Given the description of an element on the screen output the (x, y) to click on. 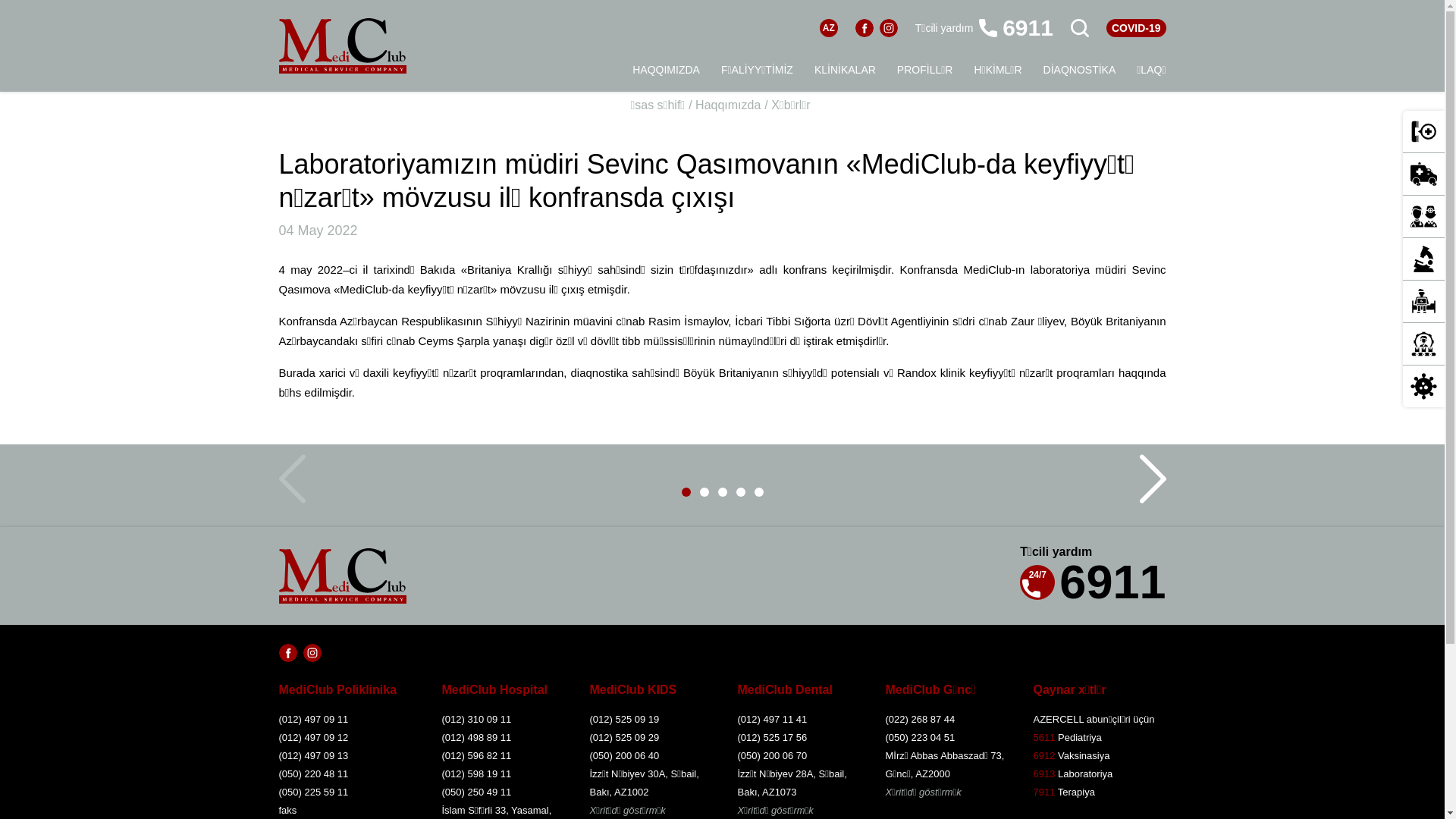
(012) 525 09 19 Element type: text (650, 719)
5 Element type: text (757, 491)
(012) 497 09 12 Element type: text (347, 737)
6913 Element type: text (1043, 773)
COVID-19 Element type: text (1136, 27)
(012) 525 17 56 Element type: text (797, 737)
(012) 498 89 11 Element type: text (501, 737)
(012) 310 09 11 Element type: text (501, 719)
6912 Element type: text (1043, 755)
3 Element type: text (721, 491)
(050) 223 04 51 Element type: text (946, 737)
(050) 200 06 70 Element type: text (797, 755)
(022) 268 87 44 Element type: text (946, 719)
5611 Element type: text (1043, 737)
KLINIKALAR Element type: text (844, 69)
(012) 598 19 11 Element type: text (501, 774)
DIAQNOSTIKA Element type: text (1079, 69)
2 Element type: text (703, 491)
HAQQIMIZDA Element type: text (665, 69)
(012) 497 09 13 Element type: text (347, 755)
(012) 497 09 11 Element type: text (347, 719)
(012) 497 11 41 Element type: text (797, 719)
COVID-19 Element type: hover (1423, 386)
(050) 250 49 11 Element type: text (501, 792)
1 Element type: text (685, 491)
(012) 525 09 29 Element type: text (650, 737)
24/7
6911 Element type: text (1092, 581)
4 Element type: text (739, 491)
(050) 200 06 40 Element type: text (650, 755)
(012) 596 82 11 Element type: text (501, 755)
7911 Element type: text (1043, 791)
(050) 220 48 11 Element type: text (347, 774)
(050) 225 59 11 Element type: text (347, 792)
